Given the description of an element on the screen output the (x, y) to click on. 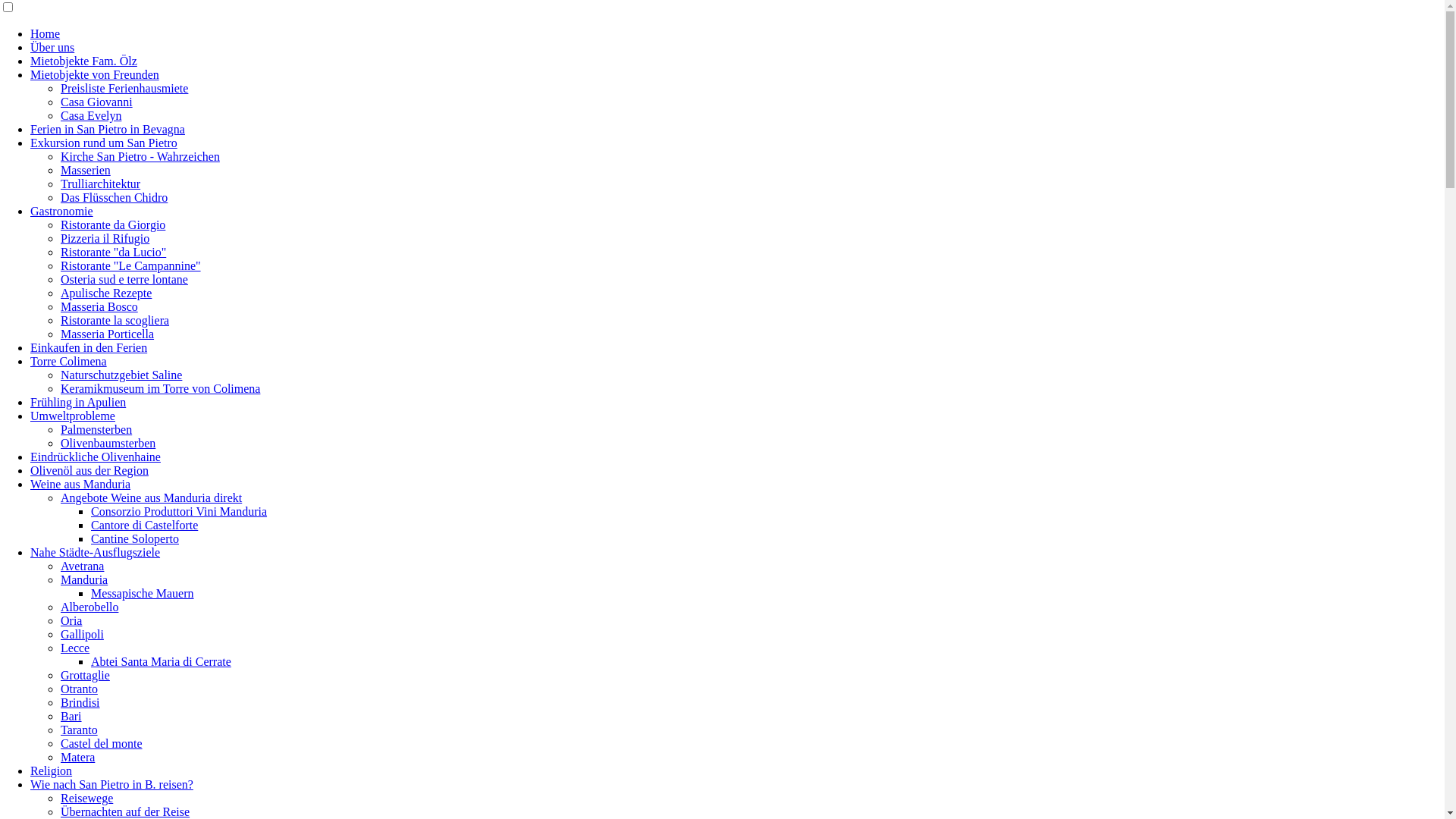
Taranto Element type: text (78, 729)
Casa Evelyn Element type: text (90, 115)
Osteria sud e terre lontane Element type: text (124, 279)
Grottaglie Element type: text (84, 674)
Apulische Rezepte Element type: text (105, 292)
Mietobjekte von Freunden Element type: text (94, 74)
Ristorante "Le Campannine" Element type: text (130, 265)
Otranto Element type: text (78, 688)
Pizzeria il Rifugio Element type: text (104, 238)
Umweltprobleme Element type: text (72, 415)
Oria Element type: text (70, 620)
Naturschutzgebiet Saline Element type: text (121, 374)
Masseria Porticella Element type: text (106, 333)
Lecce Element type: text (74, 647)
Manduria Element type: text (83, 579)
Consorzio Produttori Vini Manduria Element type: text (178, 511)
Masserien Element type: text (85, 169)
Bari Element type: text (70, 715)
Cantore di Castelforte Element type: text (144, 524)
Palmensterben Element type: text (95, 429)
Reisewege Element type: text (86, 797)
Religion Element type: text (51, 770)
Alberobello Element type: text (89, 606)
Home Element type: text (44, 33)
Wie nach San Pietro in B. reisen? Element type: text (111, 784)
Trulliarchitektur Element type: text (100, 183)
Avetrana Element type: text (81, 565)
Ferien in San Pietro in Bevagna Element type: text (107, 128)
Abtei Santa Maria di Cerrate Element type: text (161, 661)
Preisliste Ferienhausmiete Element type: text (124, 87)
Gallipoli Element type: text (81, 633)
Casa Giovanni Element type: text (96, 101)
Cantine Soloperto Element type: text (134, 538)
Torre Colimena Element type: text (68, 360)
Ristorante da Giorgio Element type: text (112, 224)
Castel del monte Element type: text (101, 743)
Angebote Weine aus Manduria direkt Element type: text (150, 497)
Messapische Mauern Element type: text (142, 592)
Olivenbaumsterben Element type: text (107, 442)
Exkursion rund um San Pietro Element type: text (103, 142)
Brindisi Element type: text (80, 702)
Ristorante la scogliera Element type: text (114, 319)
Masseria Bosco Element type: text (99, 306)
Matera Element type: text (77, 756)
Einkaufen in den Ferien Element type: text (88, 347)
Ristorante "da Lucio" Element type: text (113, 251)
Gastronomie Element type: text (61, 210)
Keramikmuseum im Torre von Colimena Element type: text (160, 388)
Weine aus Manduria Element type: text (80, 483)
Kirche San Pietro - Wahrzeichen Element type: text (139, 156)
